Given the description of an element on the screen output the (x, y) to click on. 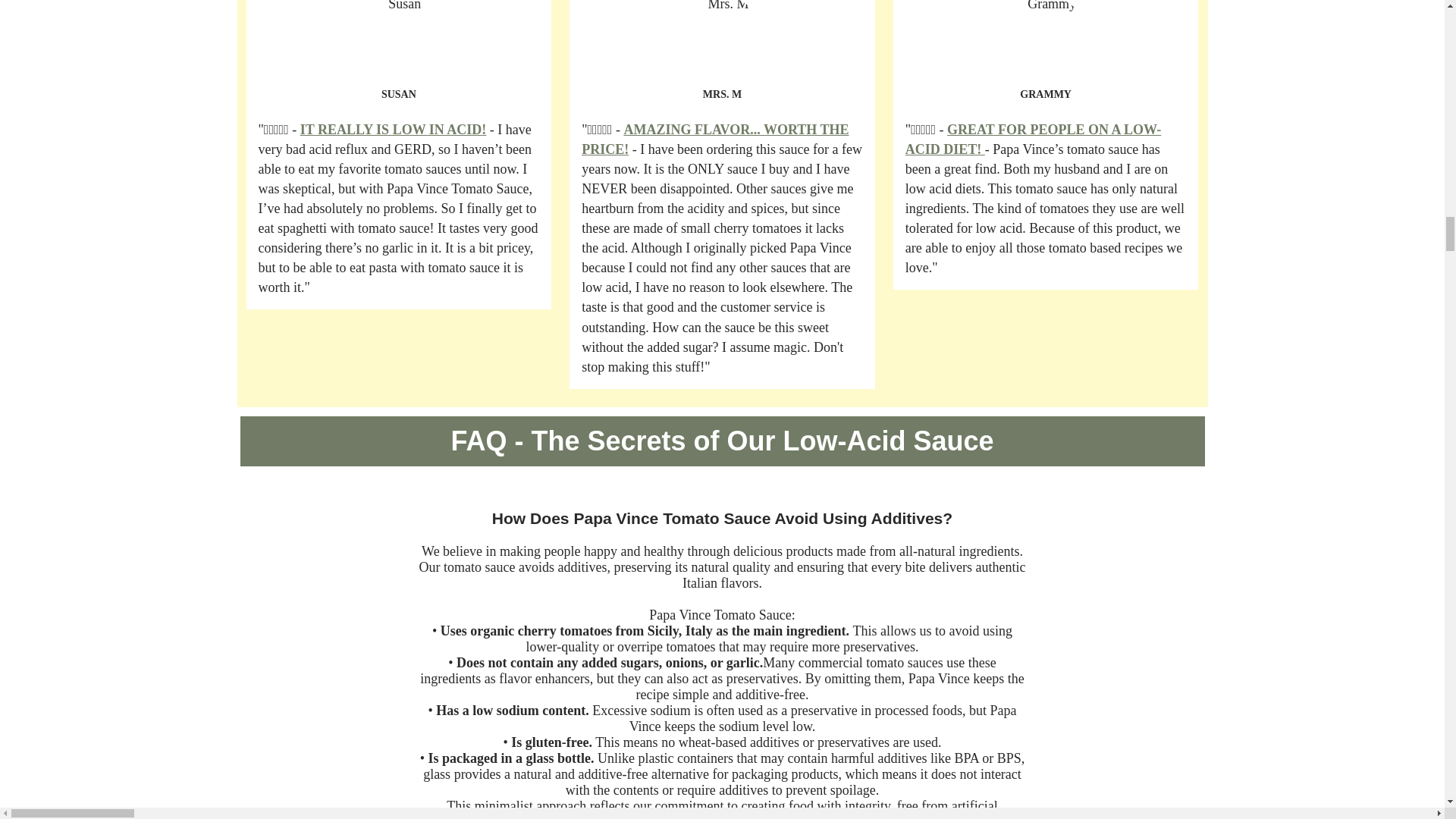
Check Mrs. M's Review (714, 139)
Check Susan's Review (392, 129)
Check Grammy's Review (1032, 139)
